Given the description of an element on the screen output the (x, y) to click on. 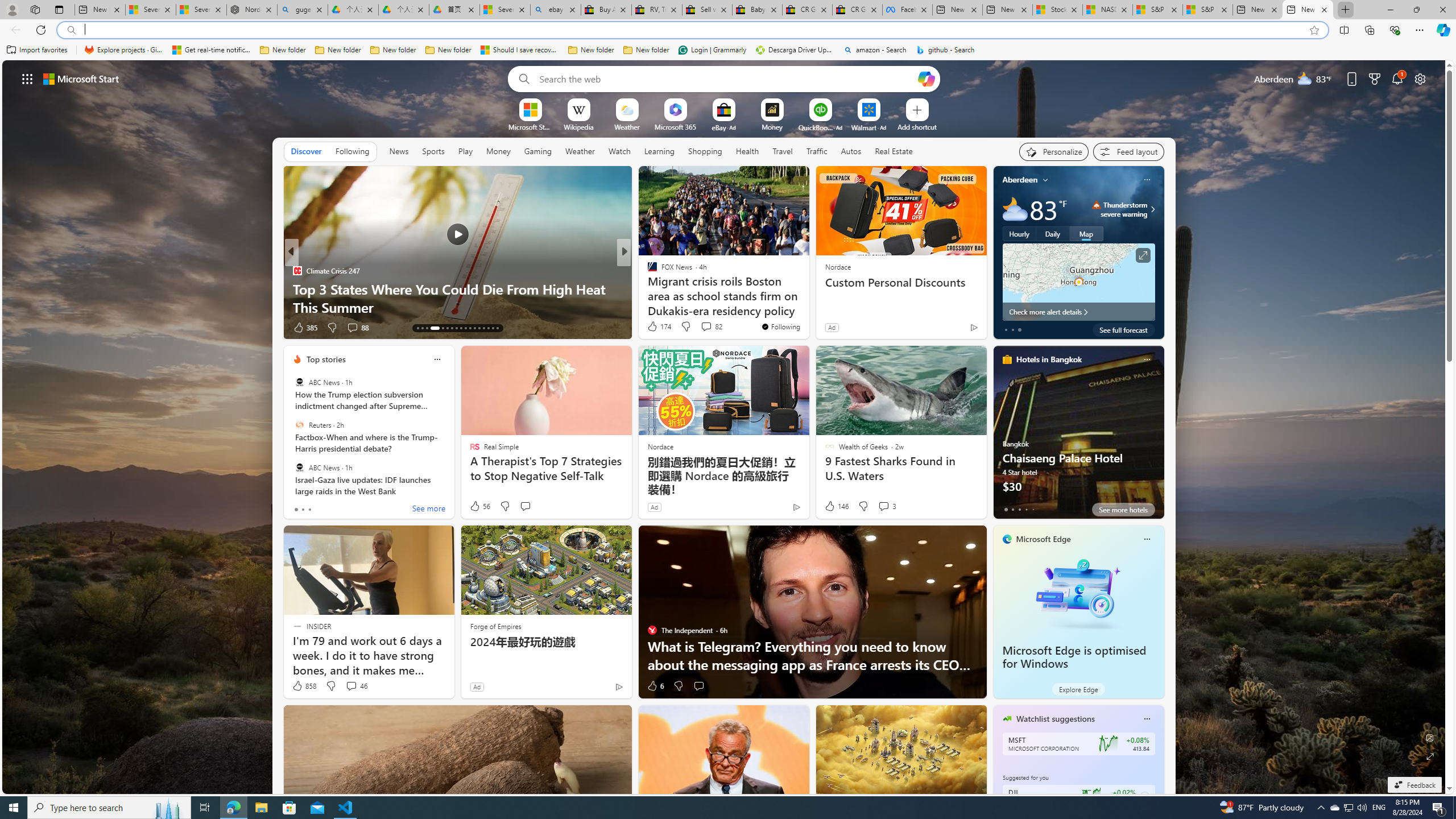
Traffic (816, 151)
311 Like (654, 327)
Climate Crisis 247 (296, 270)
Facebook (907, 9)
Notifications (1397, 78)
Shopping (705, 151)
View comments 10 Comment (698, 327)
Check more alert details (1077, 311)
146 Like (835, 505)
github - Search (945, 49)
Keepsake (807, 307)
View comments 46 Comment (355, 685)
AZ Animals (US) (647, 288)
